Given the description of an element on the screen output the (x, y) to click on. 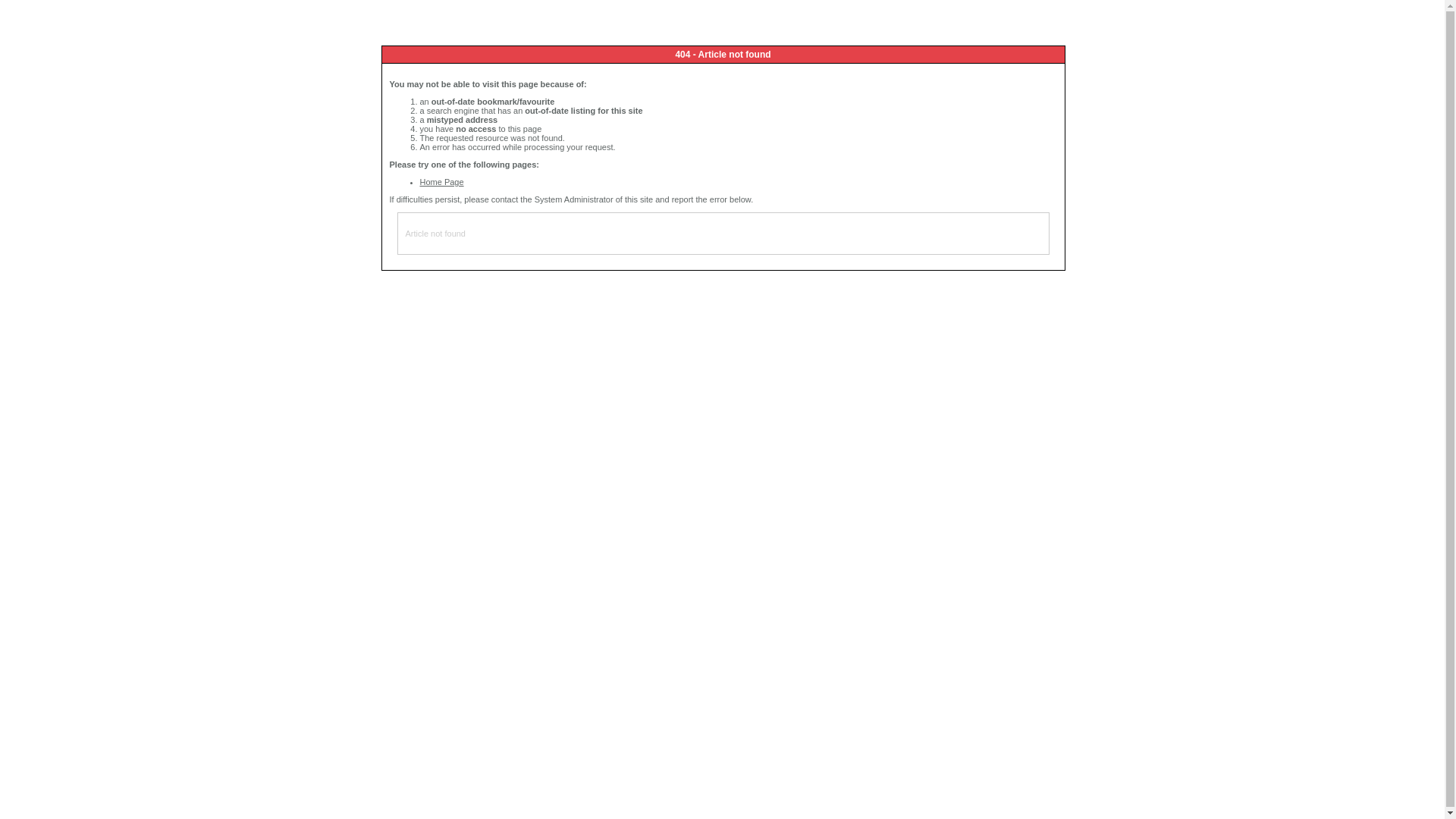
Home Page Element type: text (442, 181)
